Given the description of an element on the screen output the (x, y) to click on. 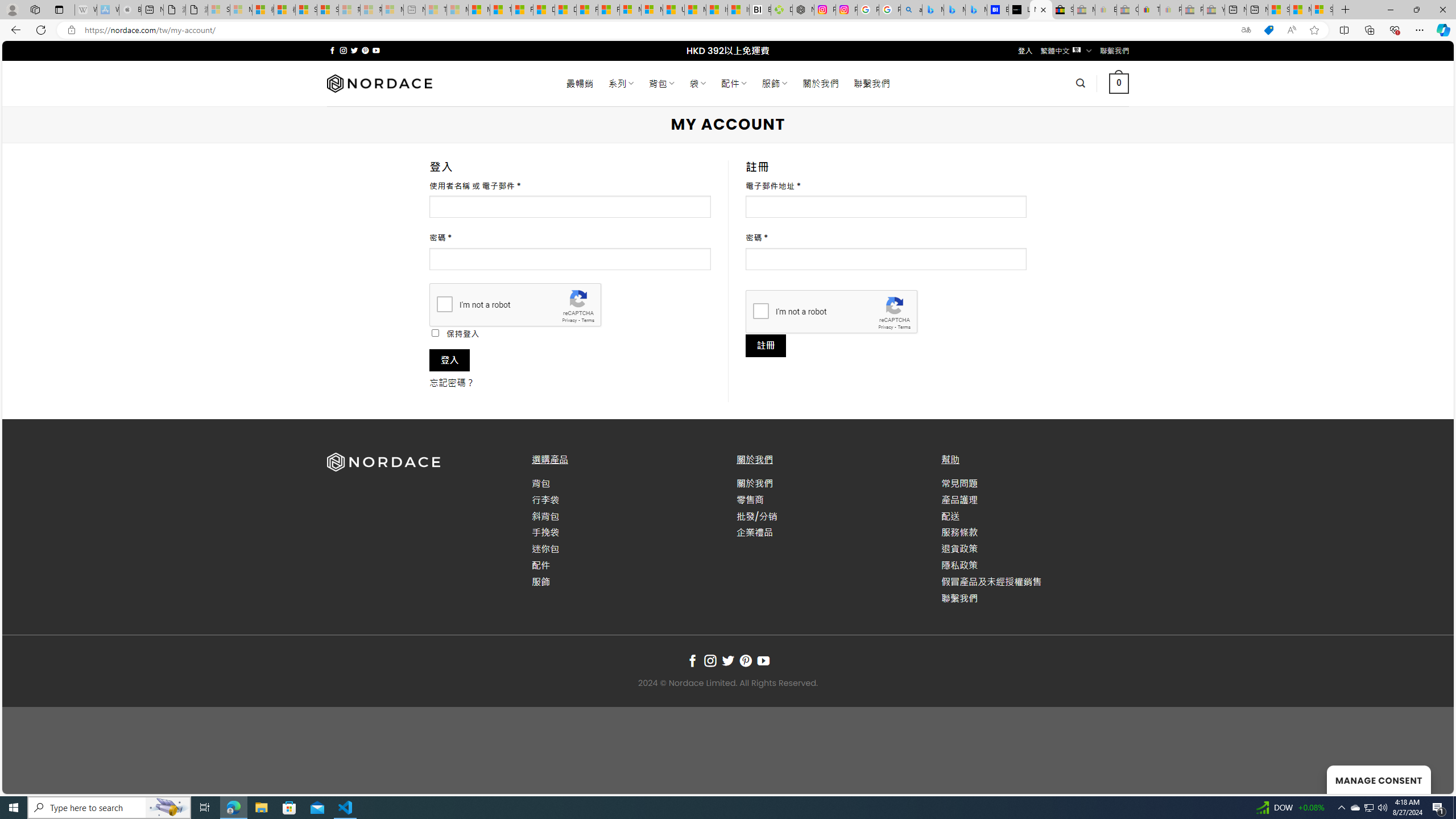
Drinking tea every day is proven to delay biological aging (565, 9)
Microsoft Bing Travel - Flights from Hong Kong to Bangkok (933, 9)
Payments Terms of Use | eBay.com - Sleeping (1170, 9)
